Given the description of an element on the screen output the (x, y) to click on. 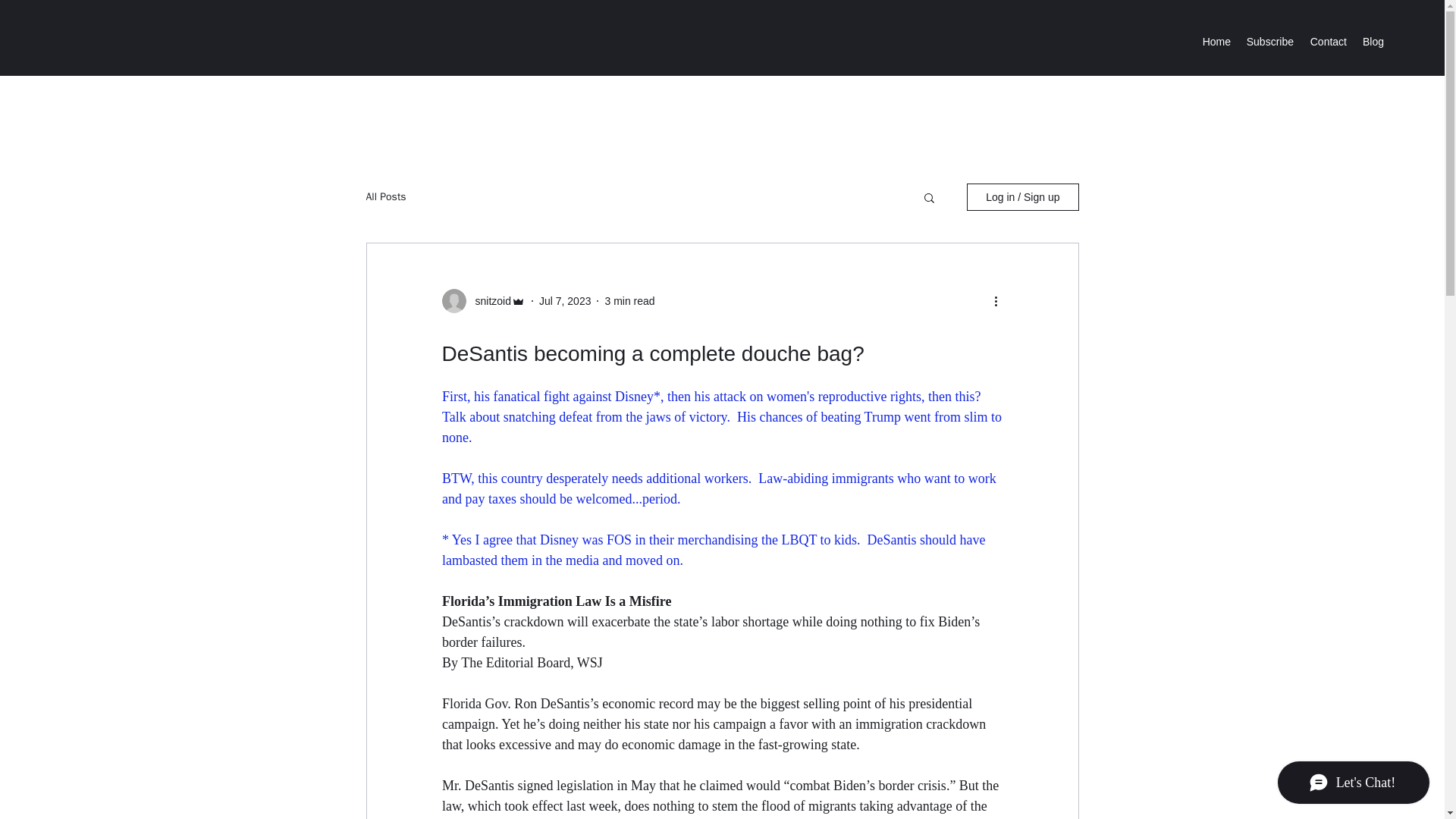
Contact (1327, 41)
Jul 7, 2023 (564, 300)
snitzoid (488, 300)
Home (1216, 41)
3 min read (628, 300)
All Posts (385, 196)
Blog (1372, 41)
Subscribe (1270, 41)
